Given the description of an element on the screen output the (x, y) to click on. 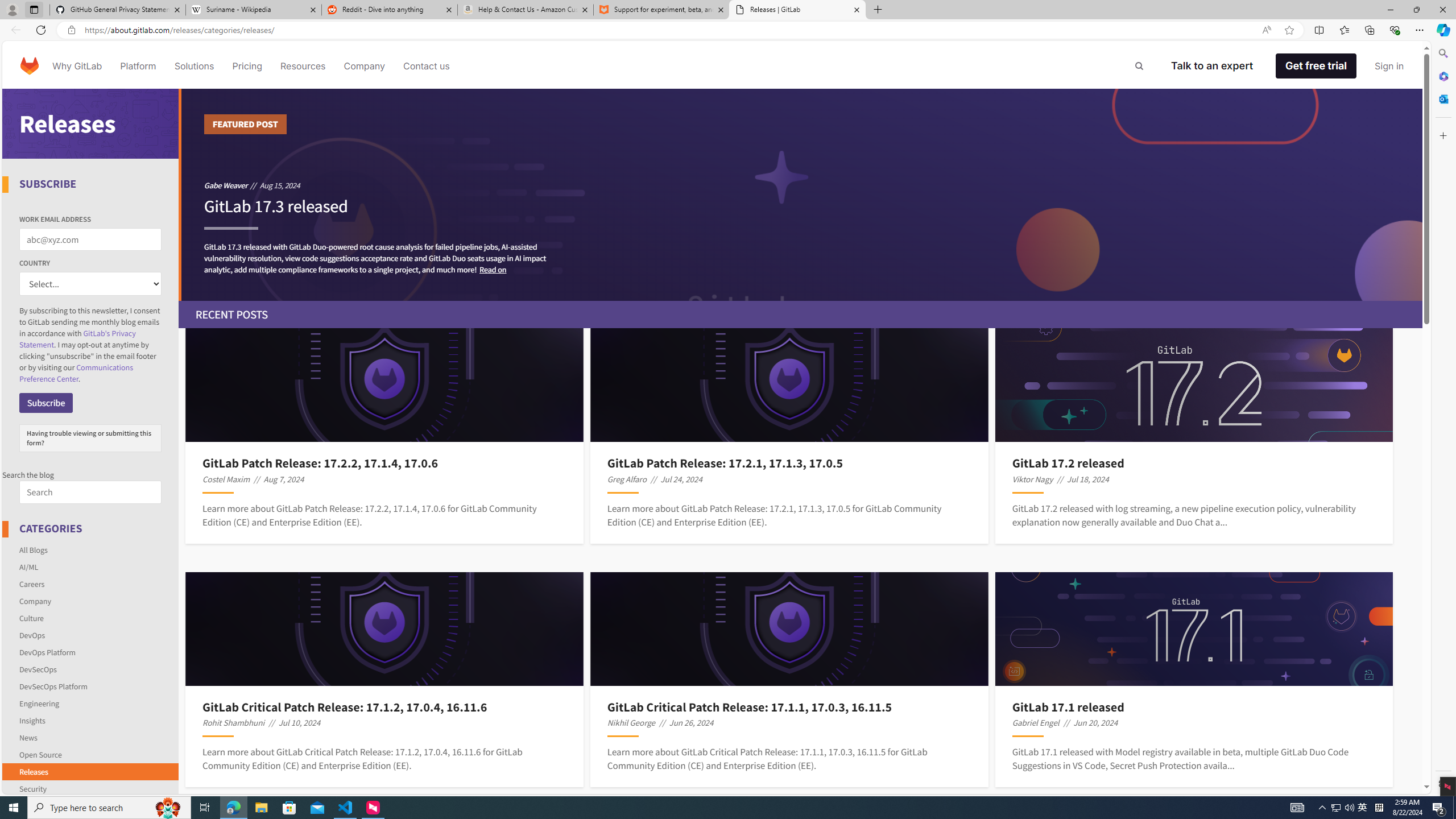
Communications Preference Center (75, 372)
Insights (31, 720)
Insights (90, 719)
AI/ML (90, 566)
Platform (138, 65)
All Blogs (33, 549)
Culture (90, 617)
Security (32, 788)
GitLab 17.2 released (1193, 463)
COUNTRY (89, 283)
Releases | GitLab (797, 9)
GitLab Patch Release: 17.2.2, 17.1.4, 17.0.6 (384, 463)
Post Image (1193, 628)
